Given the description of an element on the screen output the (x, y) to click on. 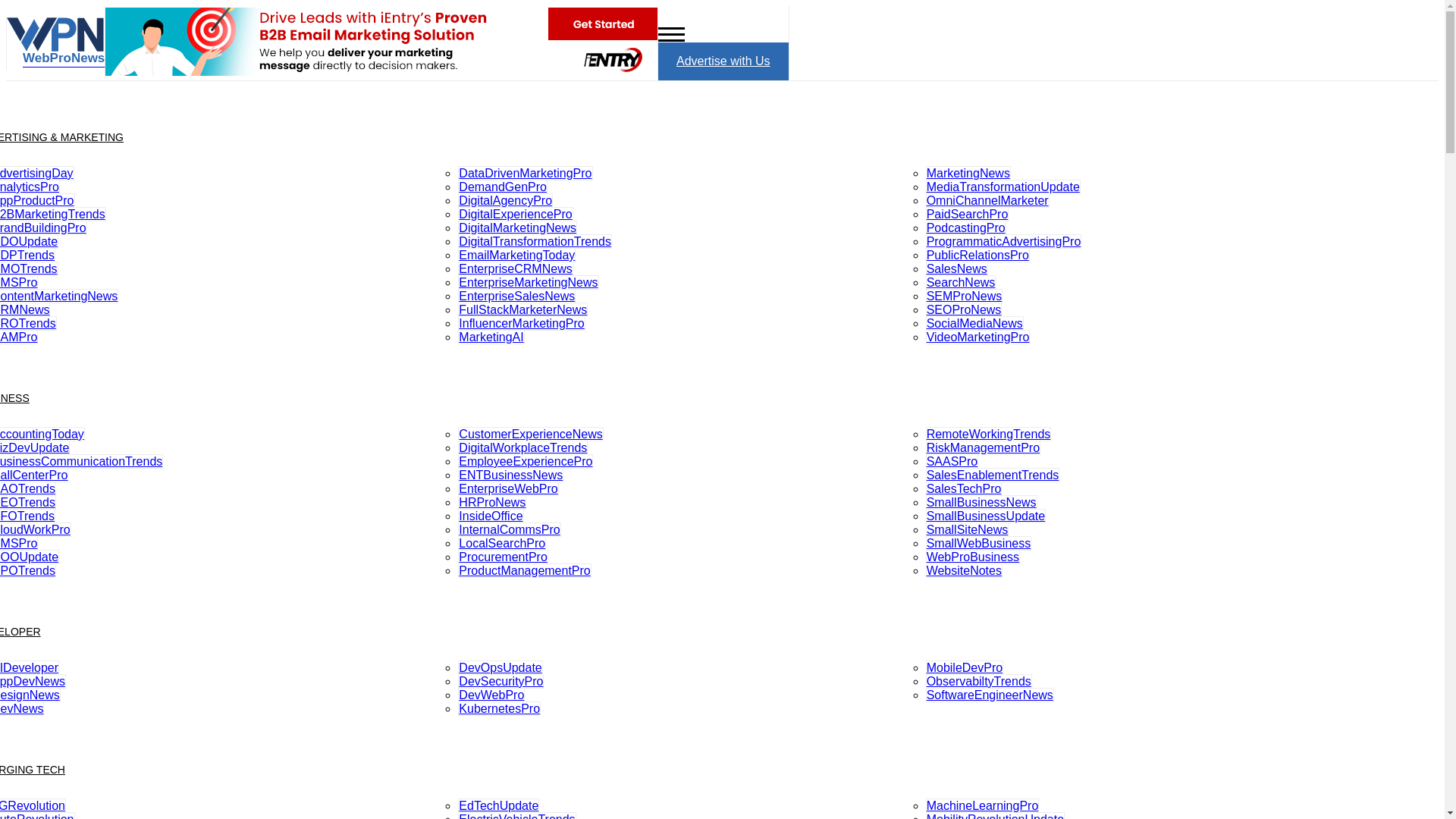
SearchNews (960, 282)
DigitalAgencyPro (505, 200)
EmailMarketingToday (516, 255)
DAMPro (18, 336)
AnalyticsPro (29, 186)
MediaTransformationUpdate (1003, 186)
SalesNews (957, 268)
CDOUpdate (29, 241)
DigitalExperiencePro (515, 214)
B2BMarketingTrends (53, 214)
InfluencerMarketingPro (521, 323)
CRMNews (24, 309)
CDPTrends (27, 255)
WebProNews (55, 53)
DataDrivenMarketingPro (525, 173)
